Given the description of an element on the screen output the (x, y) to click on. 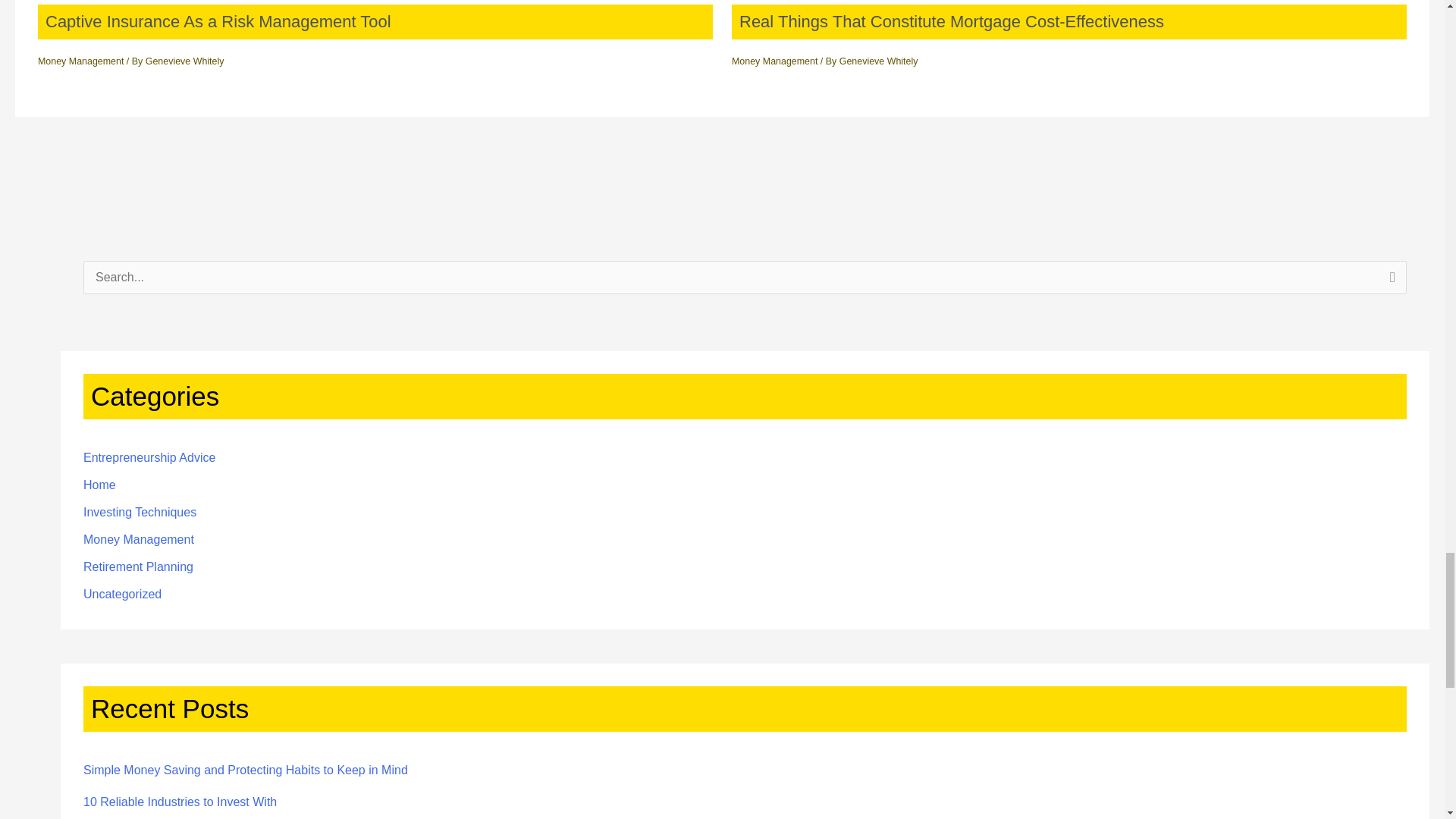
Genevieve Whitely (184, 61)
Genevieve Whitely (879, 61)
Entrepreneurship Advice (148, 457)
Money Management (774, 61)
Money Management (80, 61)
Real Things That Constitute Mortgage Cost-Effectiveness (951, 21)
View all posts by Genevieve Whitely (879, 61)
View all posts by Genevieve Whitely (184, 61)
Captive Insurance As a Risk Management Tool (218, 21)
